Given the description of an element on the screen output the (x, y) to click on. 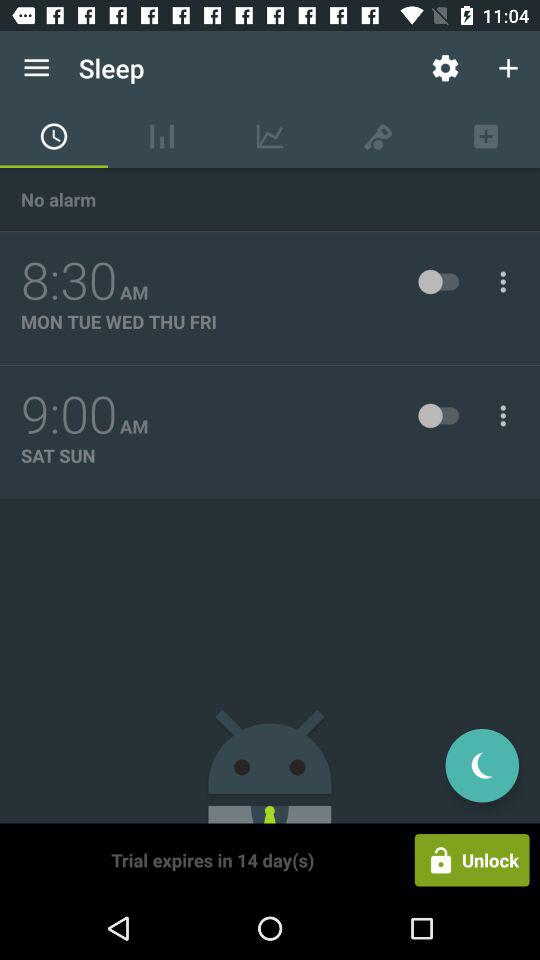
turn off 9:00 (69, 415)
